Given the description of an element on the screen output the (x, y) to click on. 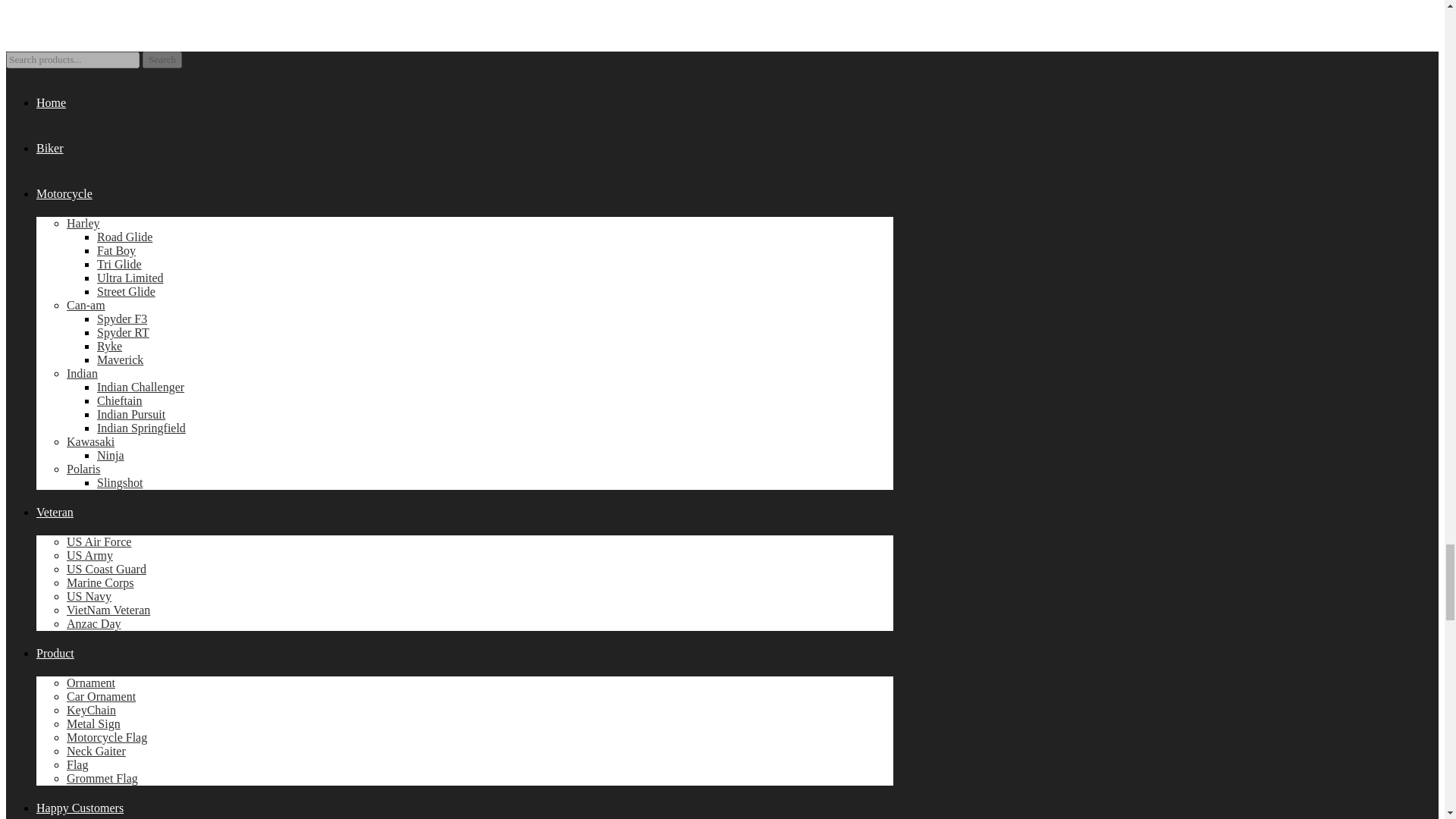
Veteran (55, 512)
Spyder RT (123, 332)
Biker (50, 147)
Motorcycle (64, 193)
Fat Boy (116, 250)
Slingshot (119, 481)
Maverick (119, 359)
Spyder F3 (122, 318)
Polaris (83, 468)
Home (50, 102)
Kawasaki (90, 440)
US Coast Guard (106, 568)
Road Glide (124, 236)
Chieftain (119, 400)
US Air Force (98, 541)
